Given the description of an element on the screen output the (x, y) to click on. 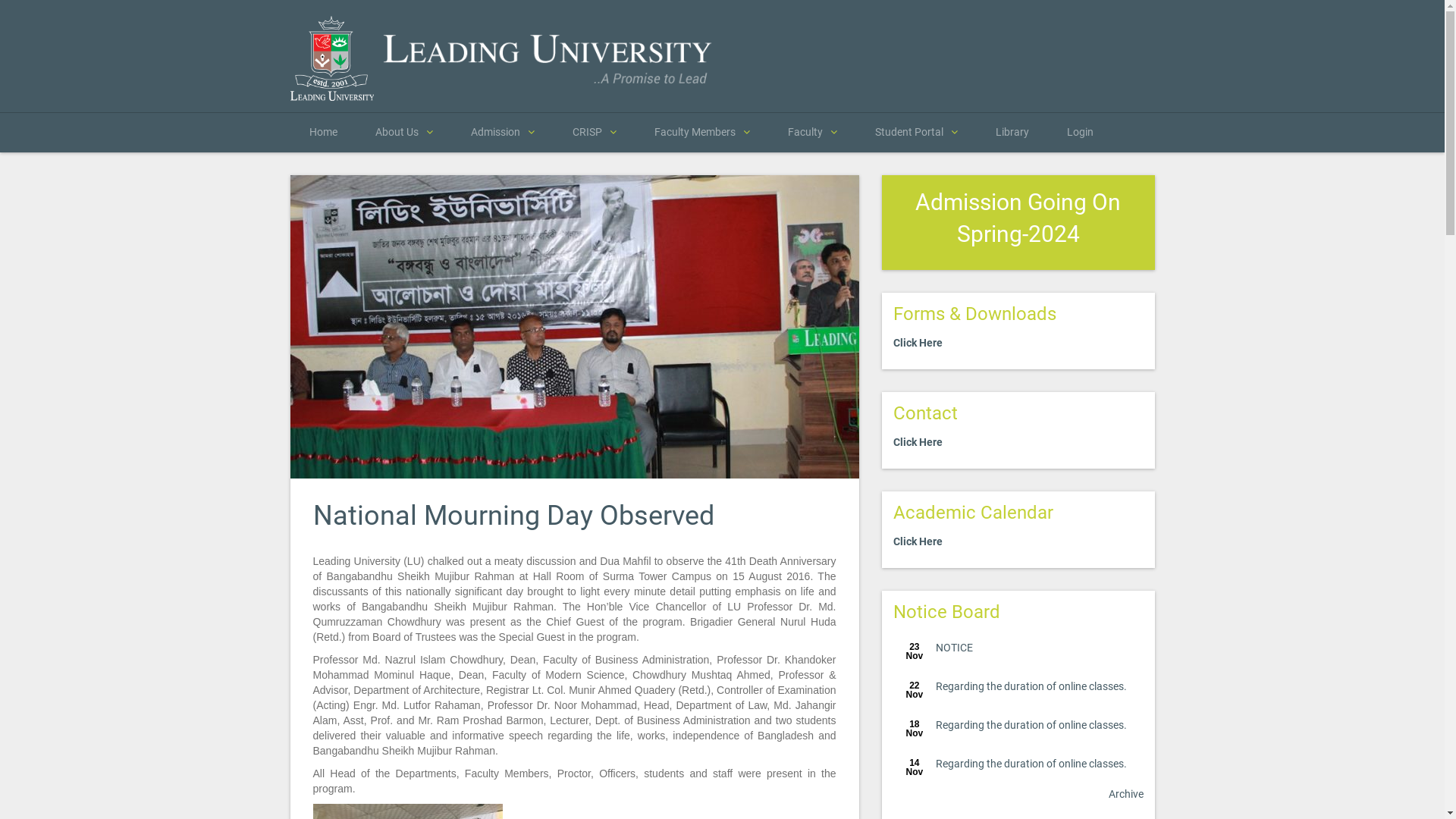
About Us Element type: text (404, 131)
Home Element type: text (322, 131)
Student Portal Element type: text (915, 131)
Click Here Element type: text (917, 541)
Admission Element type: text (502, 131)
Regarding the duration of online classes. Element type: text (1030, 686)
Click Here Element type: text (917, 442)
Regarding the duration of online classes. Element type: text (1030, 724)
CRISP Element type: text (594, 131)
Library Element type: text (1012, 131)
Faculty Members Element type: text (702, 131)
Login Element type: text (1079, 131)
Click Here Element type: text (917, 342)
Regarding the duration of online classes. Element type: text (1030, 763)
Faculty Element type: text (812, 131)
Archive Element type: text (1125, 793)
NOTICE Element type: text (953, 647)
